Given the description of an element on the screen output the (x, y) to click on. 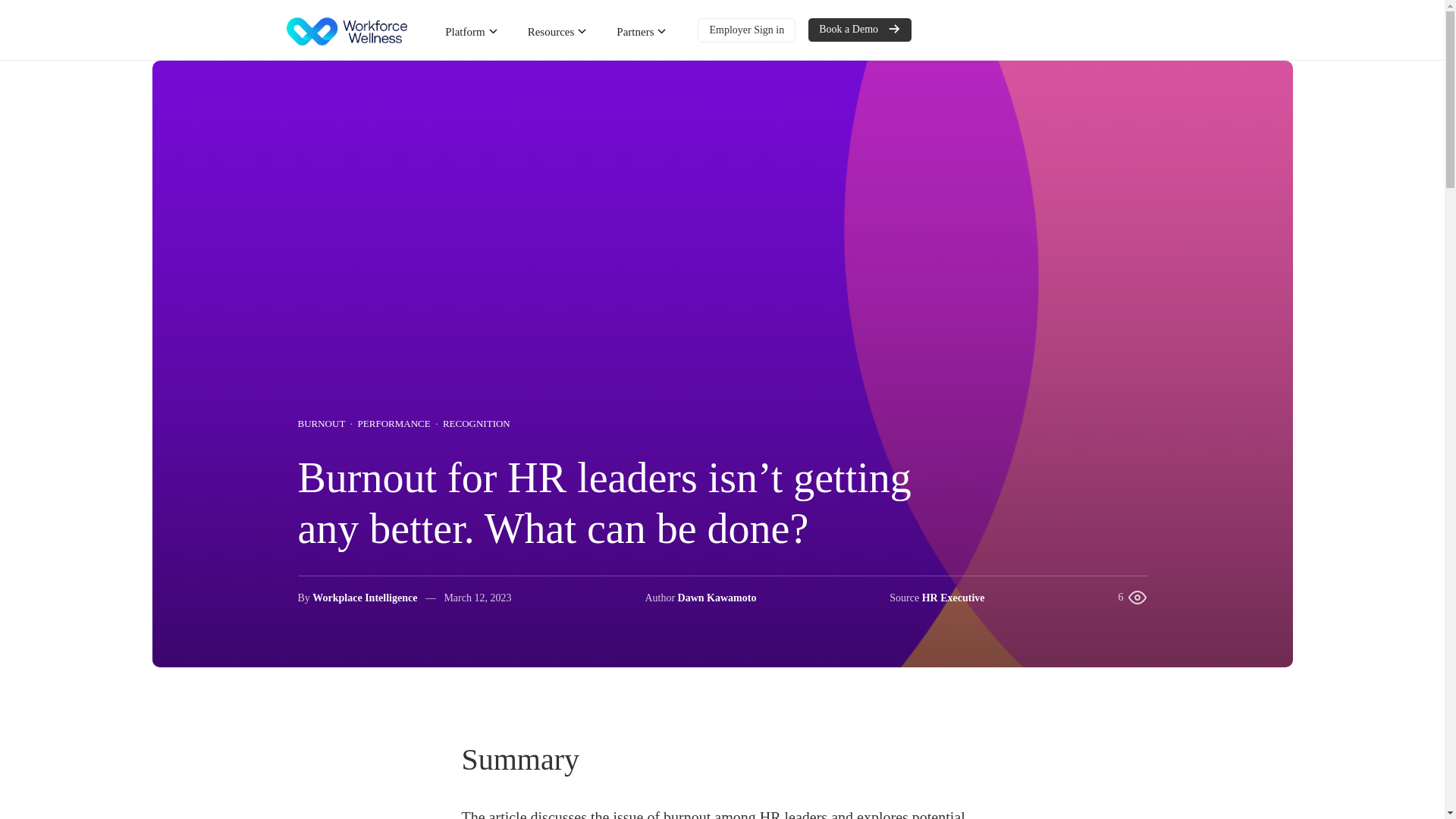
Posts by Dawn Kawamoto (953, 596)
Resources (557, 31)
View all posts in Recognition (476, 423)
Employer Sign in (745, 30)
View all posts in Burnout (321, 423)
Book a Demo (860, 29)
Platform (471, 31)
Posts by Workplace Intelligence (364, 596)
March 12, 2023 (477, 596)
View all posts in Performance (393, 423)
